Given the description of an element on the screen output the (x, y) to click on. 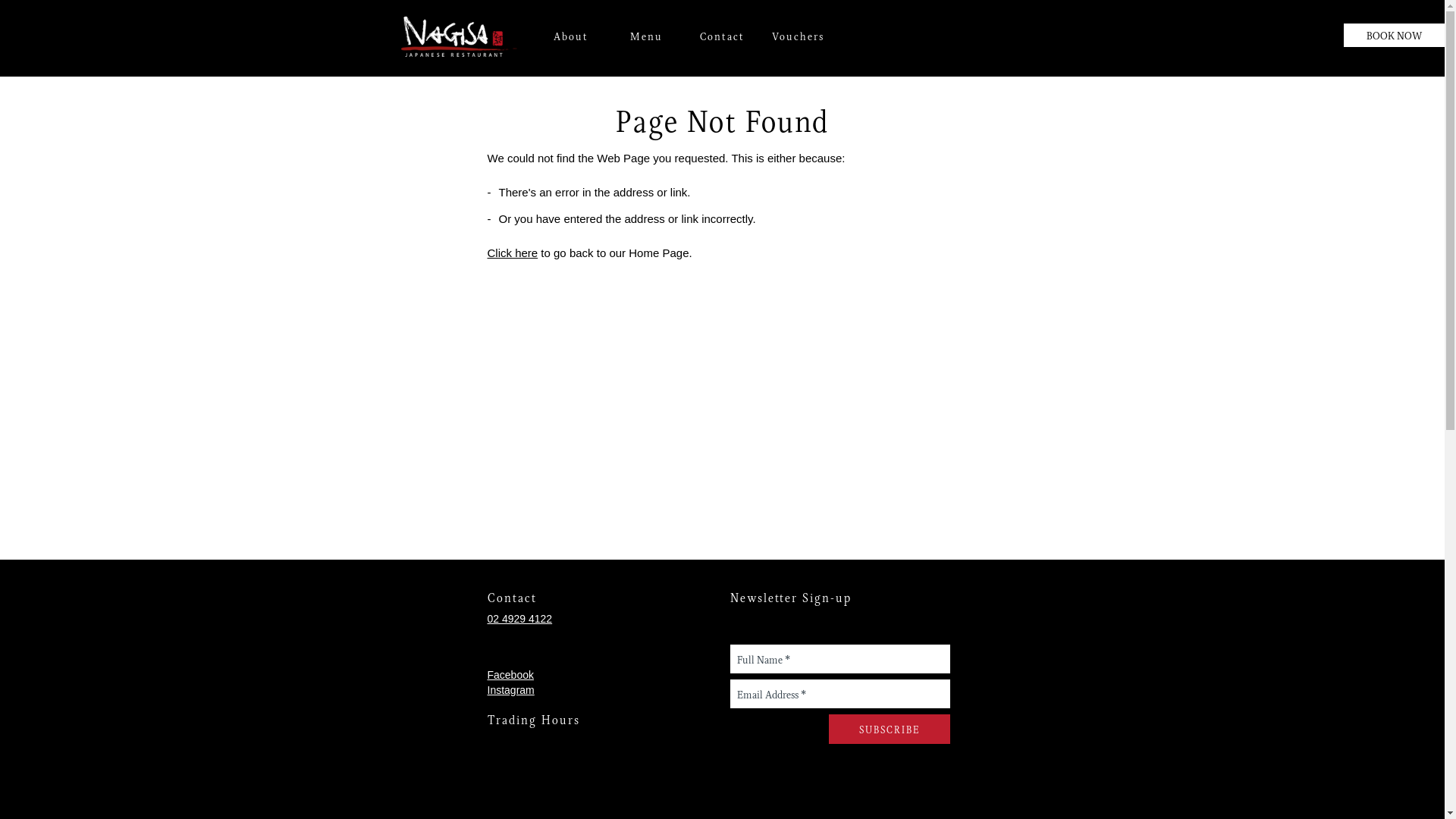
About Element type: text (570, 35)
Contact Element type: text (721, 35)
Subscribe Element type: text (888, 728)
Instagram Element type: text (509, 690)
Book Now Element type: text (25, 567)
Facebook Element type: text (509, 674)
Menu Element type: text (646, 35)
BOOK NOW Element type: text (1393, 35)
Vouchers Element type: text (797, 35)
Click here Element type: text (511, 252)
02 4929 4122 Element type: text (519, 618)
